Given the description of an element on the screen output the (x, y) to click on. 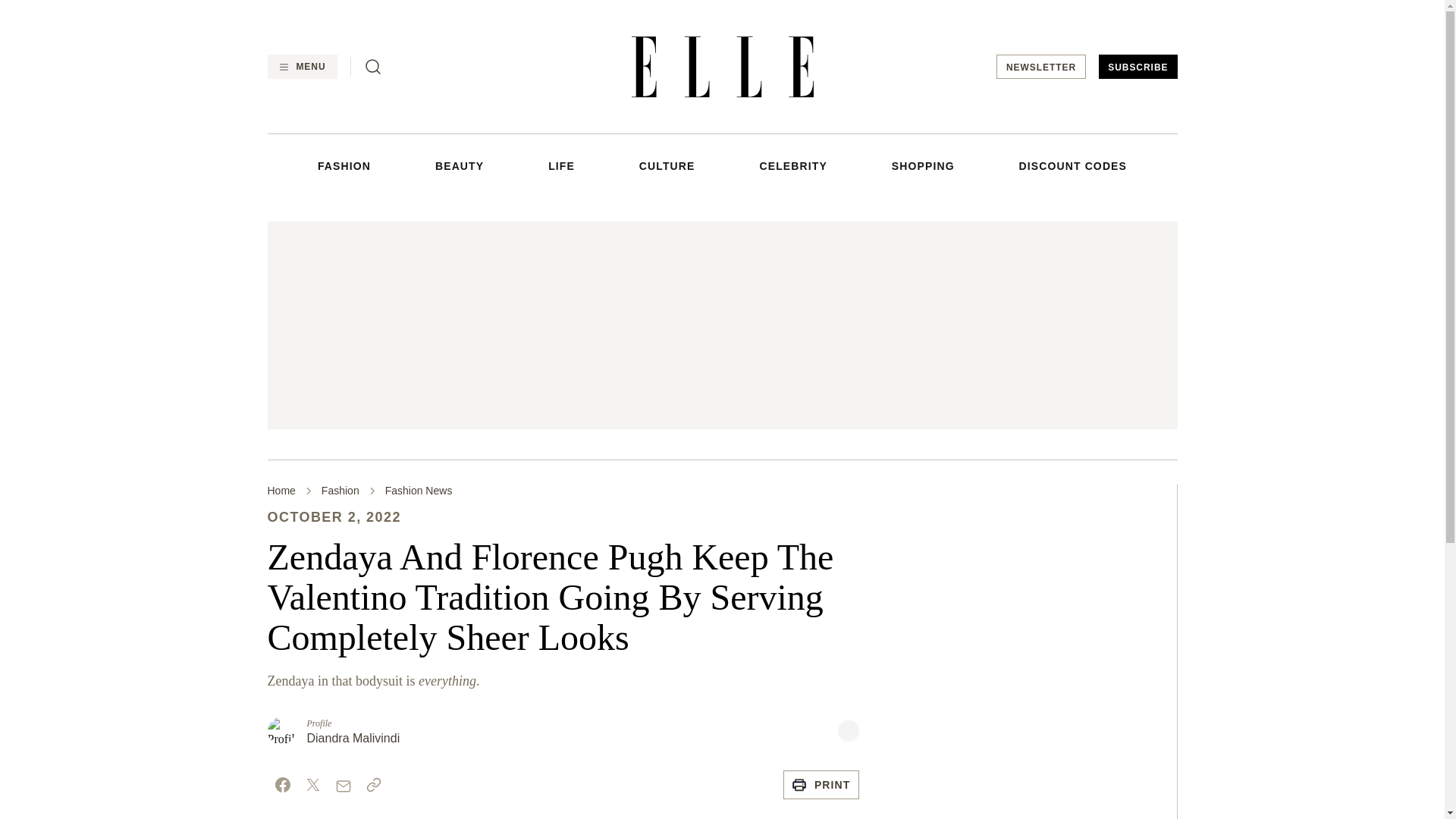
CELEBRITY (792, 165)
NEWSLETTER (1040, 66)
DISCOUNT CODES (1072, 165)
CULTURE (667, 165)
SUBSCRIBE (1137, 66)
LIFE (561, 165)
MENU (301, 66)
BEAUTY (459, 165)
FASHION (344, 165)
SHOPPING (923, 165)
